Given the description of an element on the screen output the (x, y) to click on. 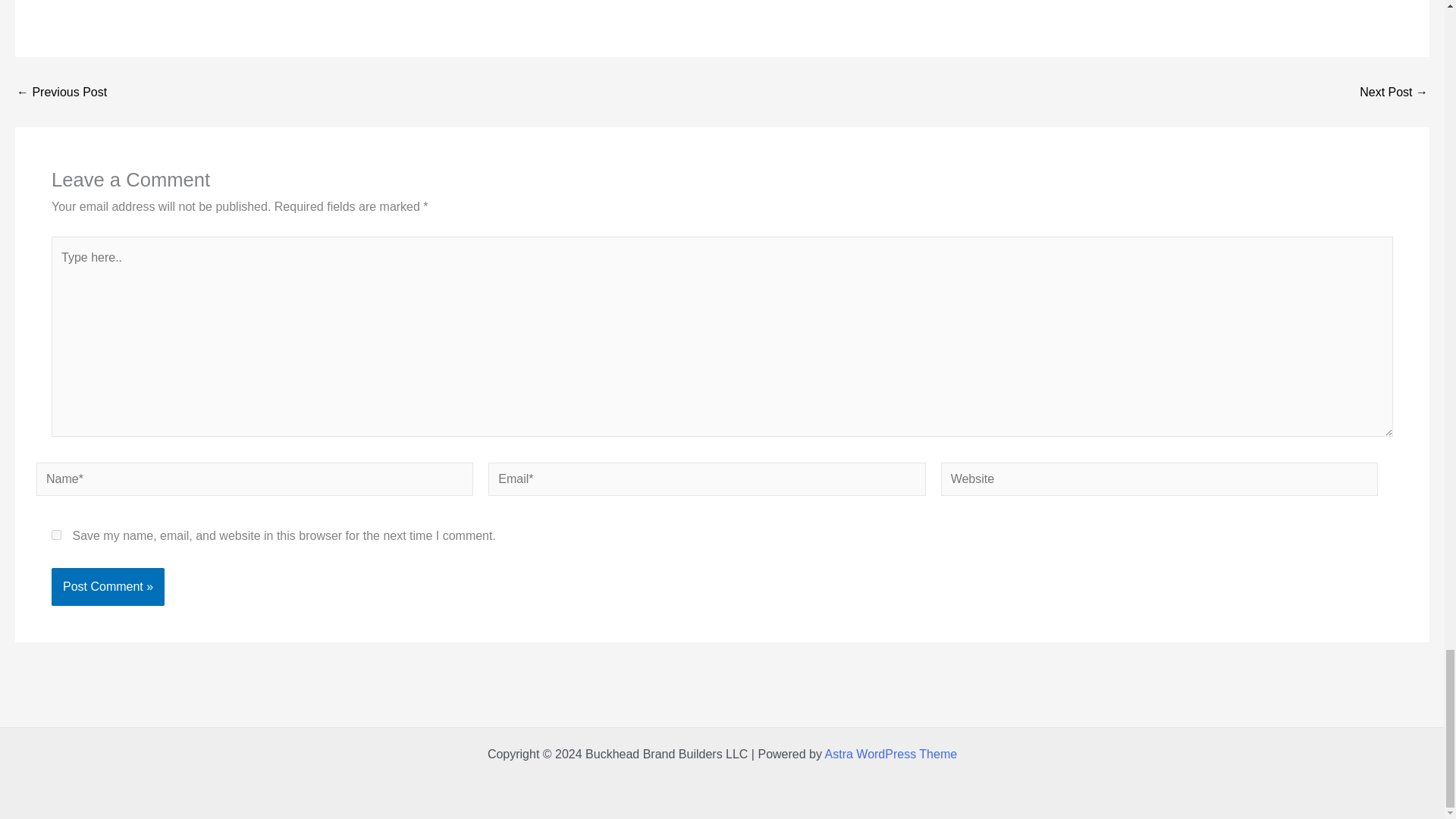
yes (55, 534)
Airbnb CMO Ditches Efficiency for Daring Model Campaigns (1393, 92)
